Given the description of an element on the screen output the (x, y) to click on. 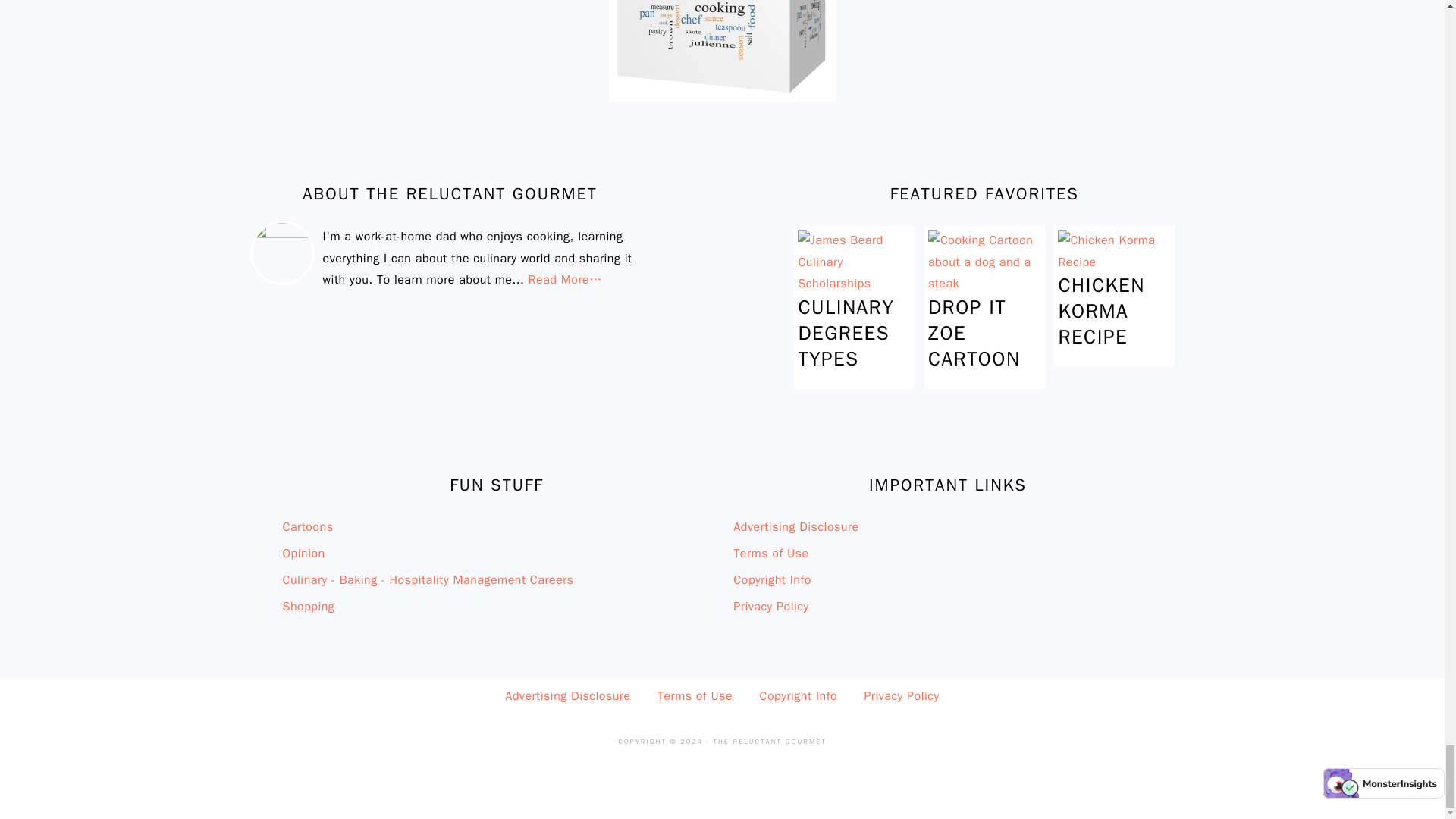
Chicken Korma Recipe (1114, 262)
Drop It Zoe Cartoon (984, 283)
Culinary Degrees Types (854, 283)
